Given the description of an element on the screen output the (x, y) to click on. 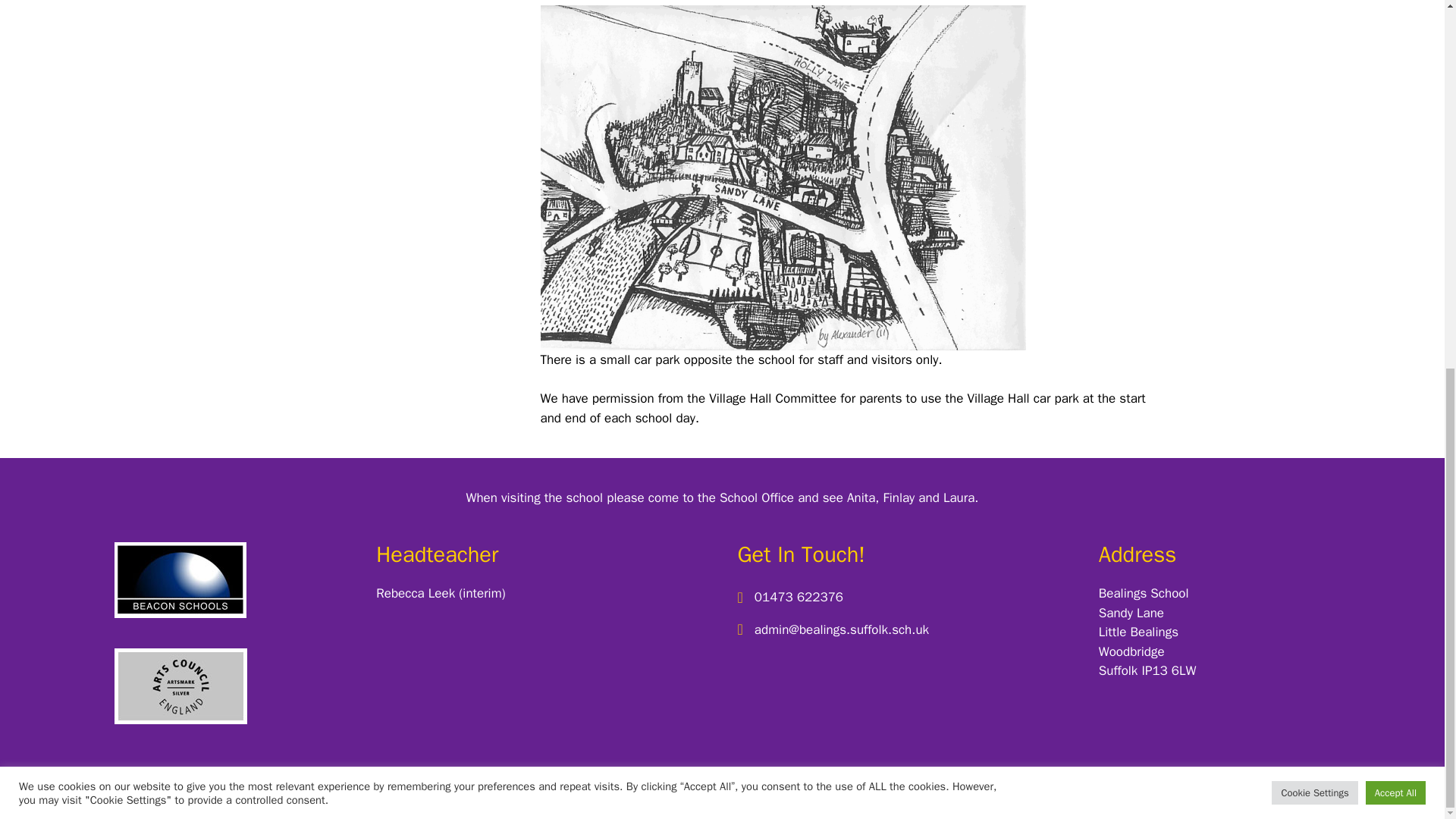
beacon-schools (180, 580)
arts-council-silver (181, 685)
